Given the description of an element on the screen output the (x, y) to click on. 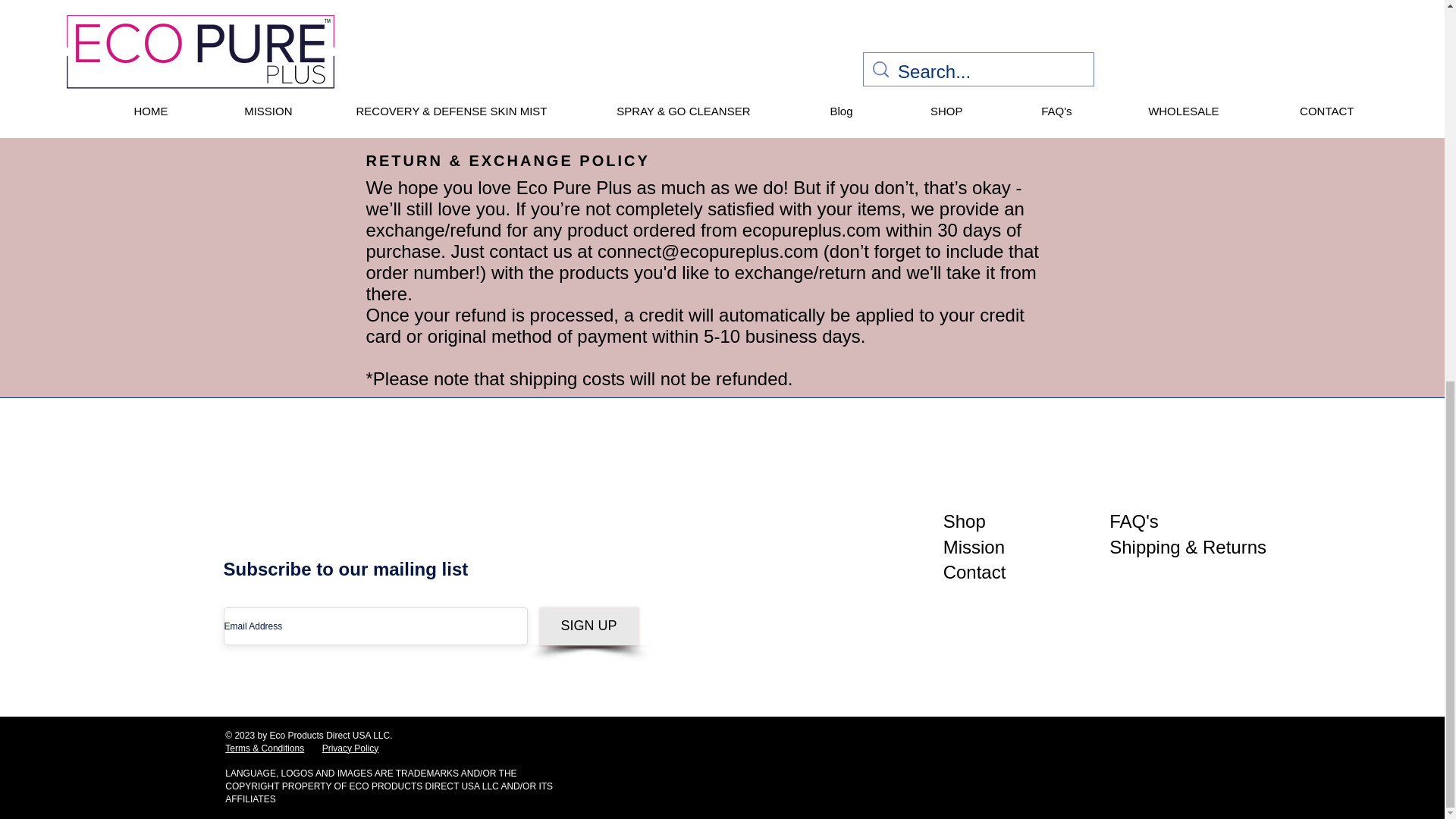
Contact (974, 571)
Shop (964, 521)
Subscribe to our mailing list (346, 568)
FAQ's (1133, 521)
Mission (973, 547)
SIGN UP (589, 626)
Privacy Policy (349, 747)
